Given the description of an element on the screen output the (x, y) to click on. 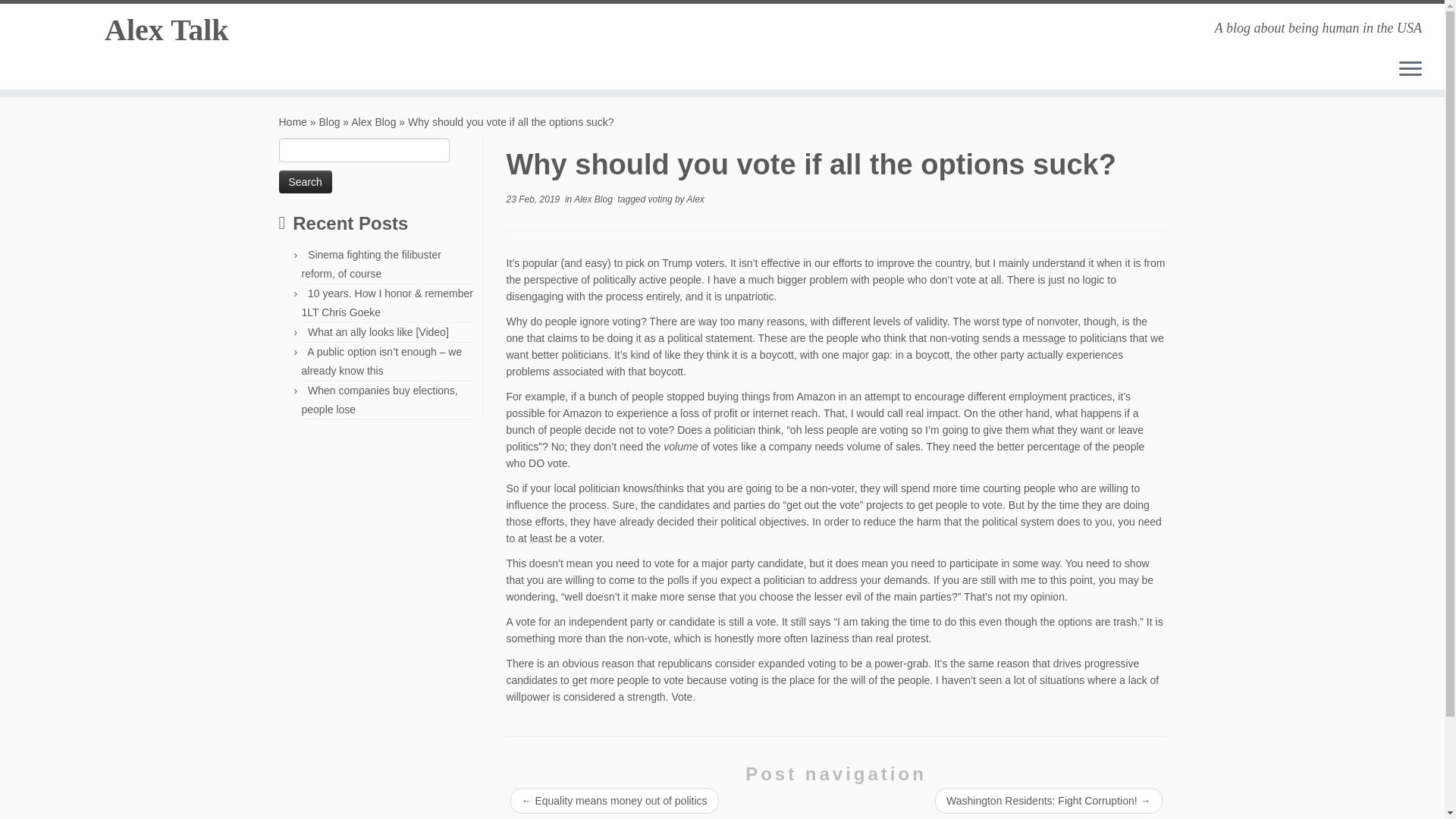
Alex (694, 199)
23 Feb, 2019 (533, 199)
Blog (328, 121)
When companies buy elections, people lose (379, 399)
Home (293, 121)
Alex Blog (593, 199)
Alex Talk (166, 30)
10:38 am (533, 199)
Search (305, 181)
Alex Blog (373, 121)
View all posts by Alex (694, 199)
Sinema fighting the filibuster reform, of course (371, 264)
voting (661, 199)
Open the menu (1410, 69)
Alex Blog (373, 121)
